Given the description of an element on the screen output the (x, y) to click on. 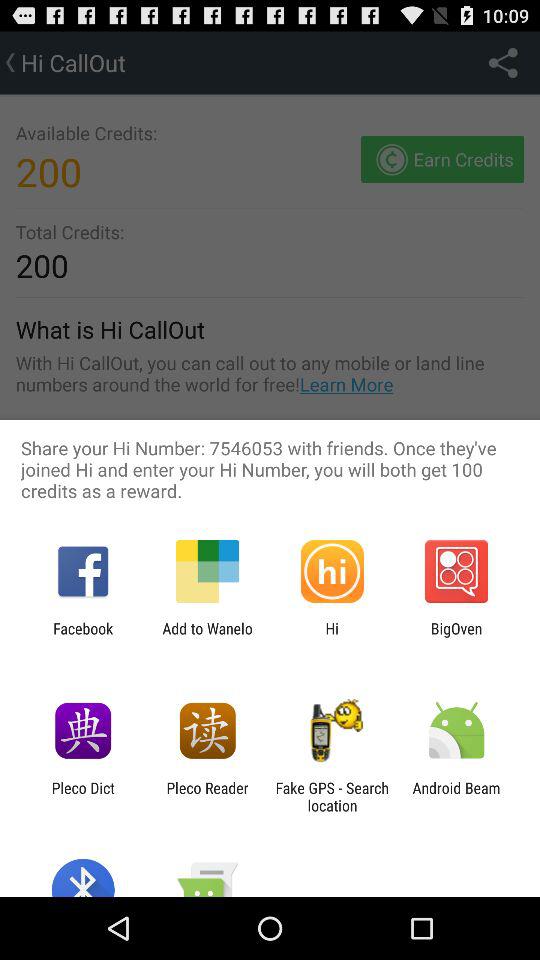
turn off app to the right of the facebook app (207, 637)
